Given the description of an element on the screen output the (x, y) to click on. 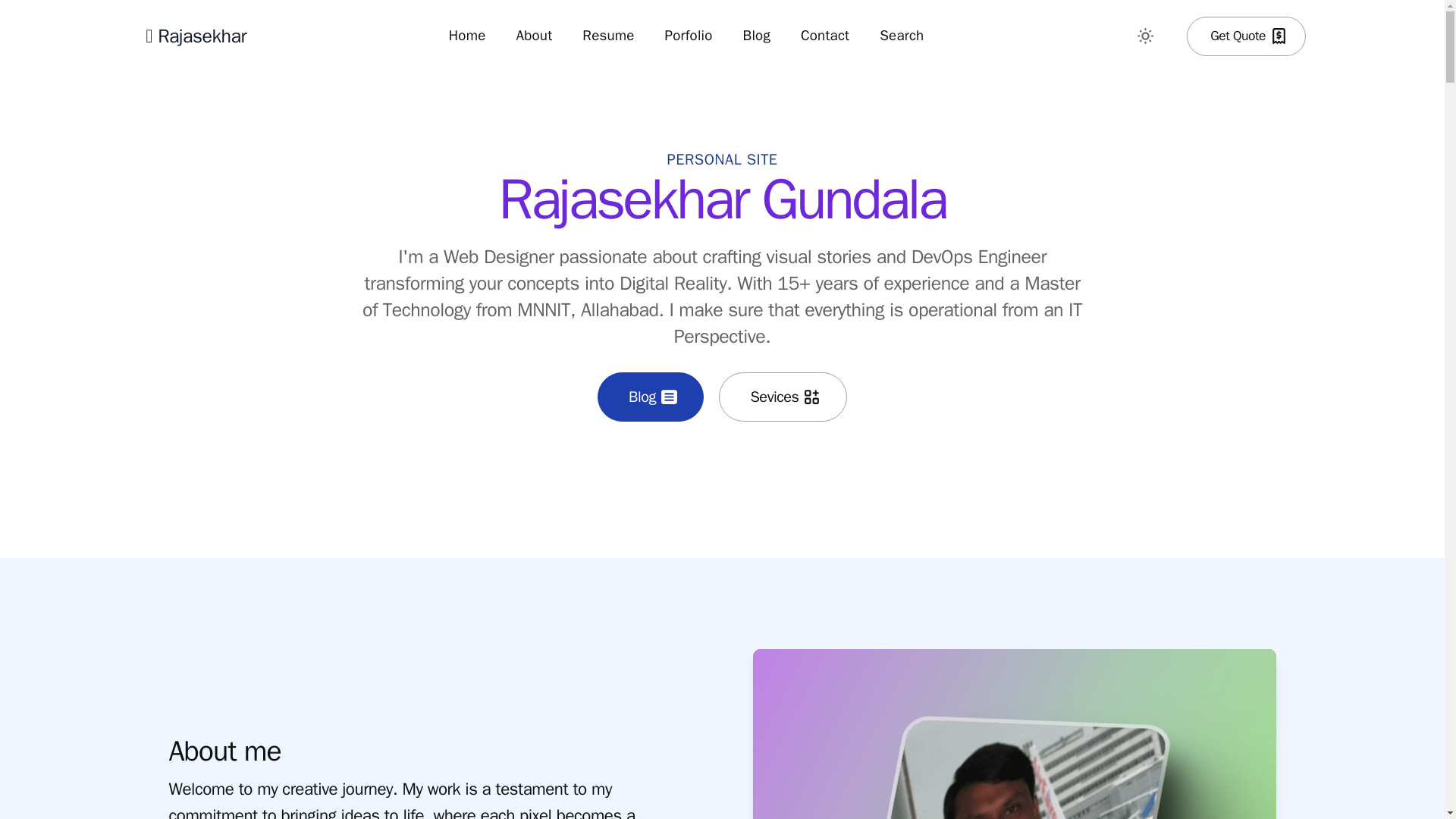
Resume (608, 35)
Porfolio (688, 35)
Blog (649, 396)
Contact (825, 35)
Home (466, 35)
Blog (757, 35)
About (533, 35)
Search (901, 35)
Get Quote (1246, 36)
Sevices (783, 396)
